Given the description of an element on the screen output the (x, y) to click on. 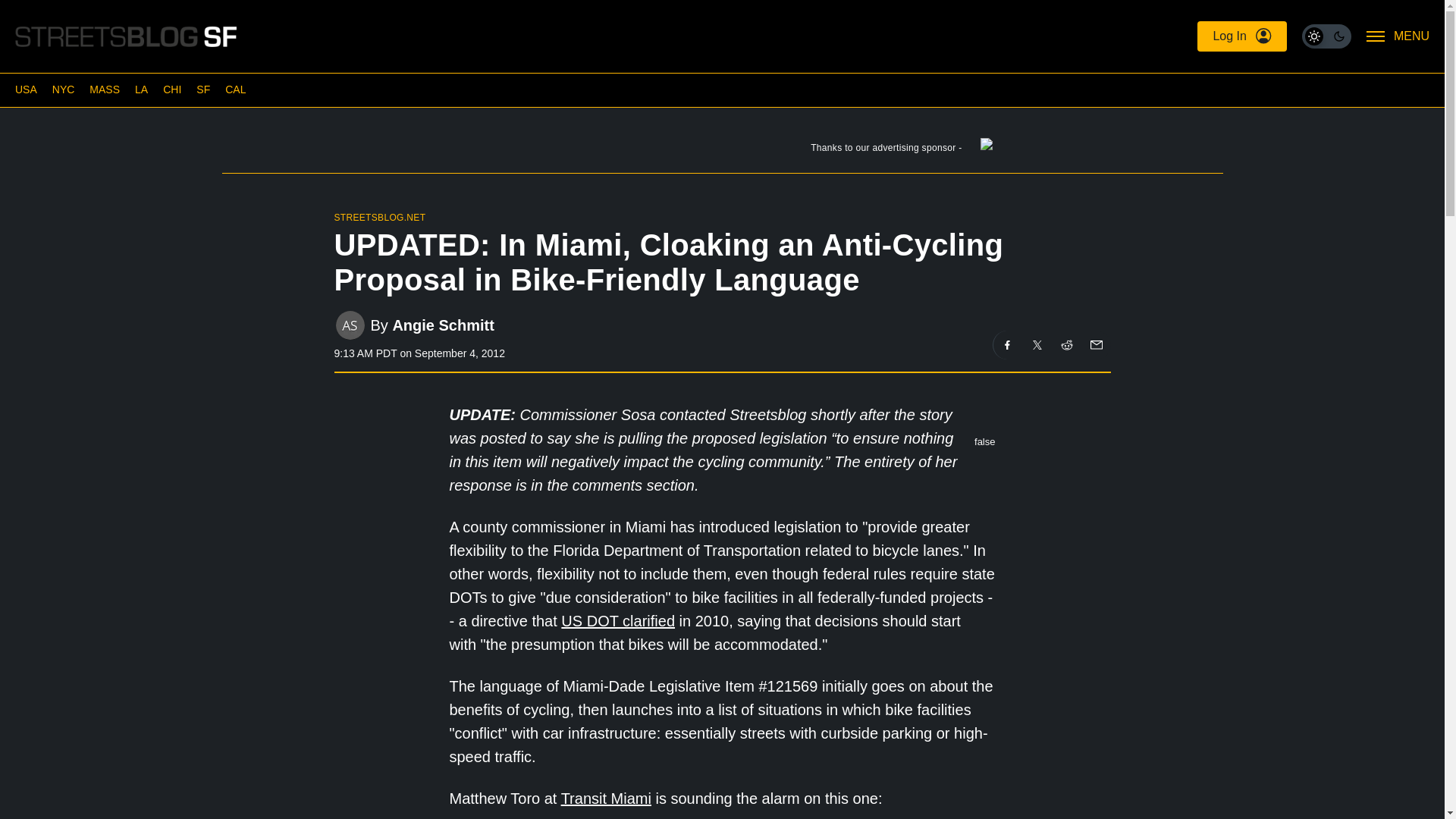
Share on Facebook (1007, 344)
Angie Schmitt (442, 325)
CAL (235, 89)
MASS (103, 89)
Log In (1240, 36)
CHI (171, 89)
US DOT clarified (617, 620)
USA (25, 89)
Thanks to our advertising sponsor - (721, 150)
NYC (63, 89)
